Given the description of an element on the screen output the (x, y) to click on. 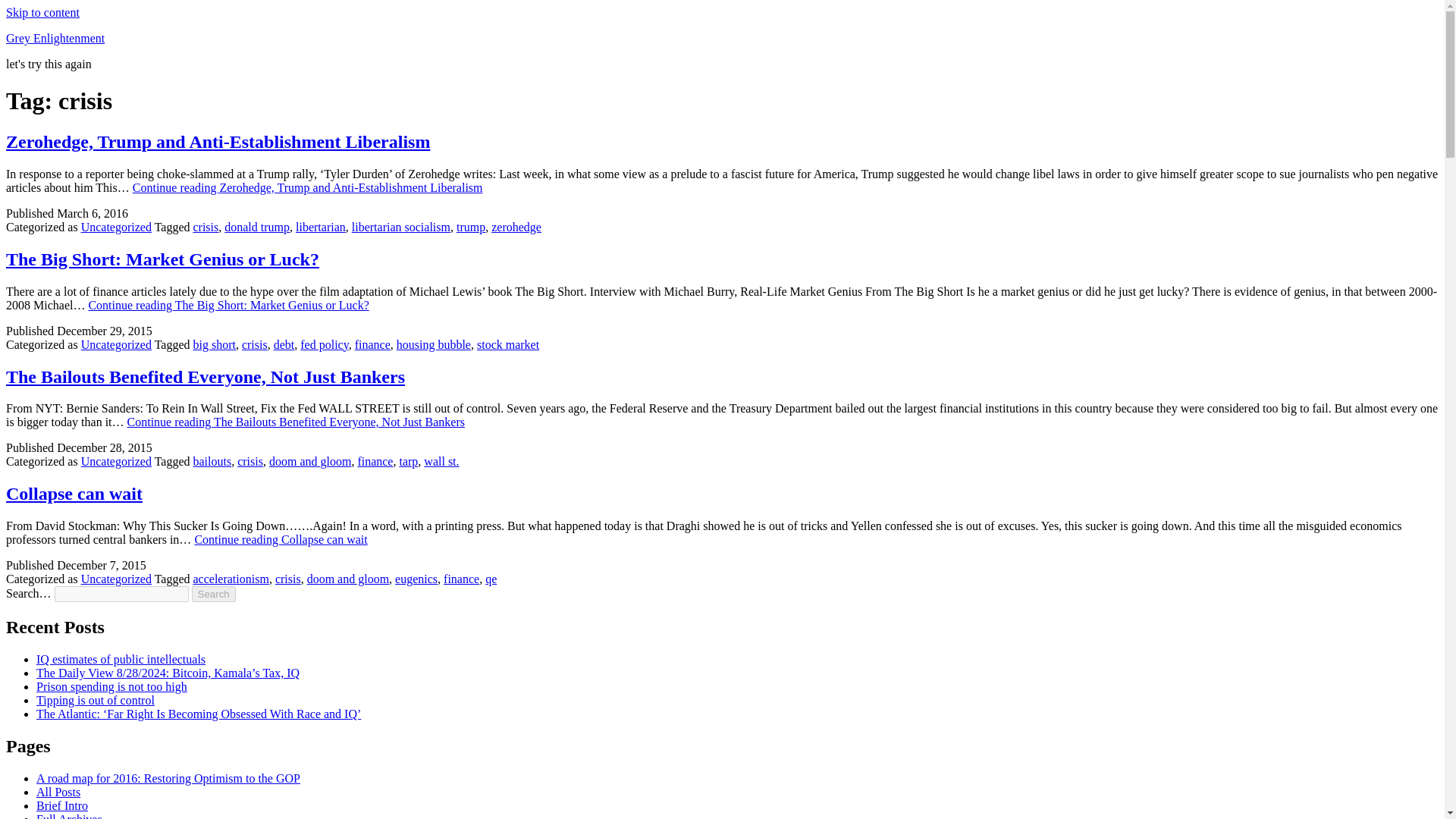
trump (470, 226)
libertarian socialism (400, 226)
finance (374, 461)
accelerationism (229, 578)
debt (284, 344)
zerohedge (516, 226)
crisis (288, 578)
Continue reading The Big Short: Market Genius or Luck? (227, 305)
Skip to content (42, 11)
finance (372, 344)
